Given the description of an element on the screen output the (x, y) to click on. 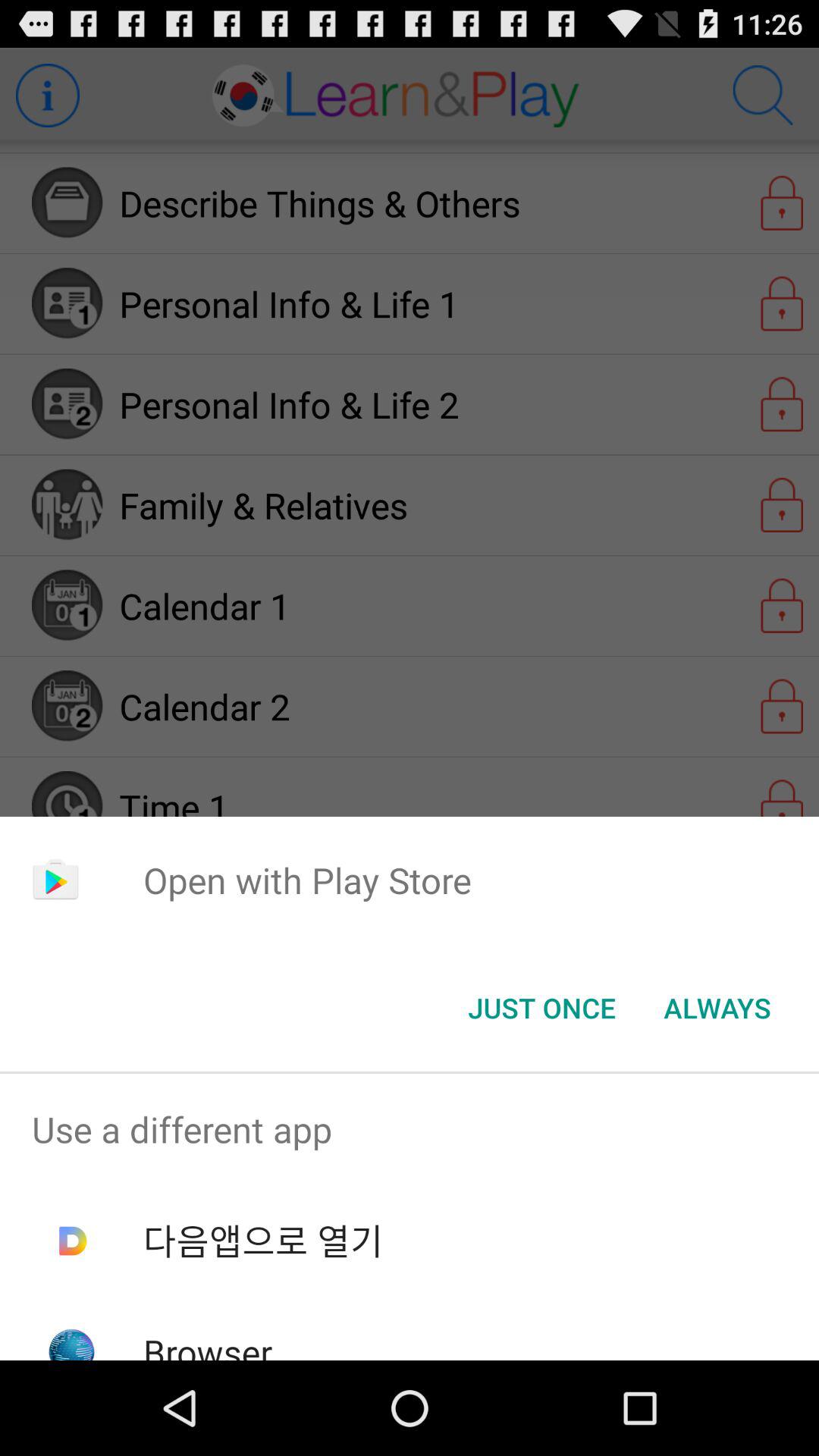
turn off icon next to the just once (717, 1007)
